Given the description of an element on the screen output the (x, y) to click on. 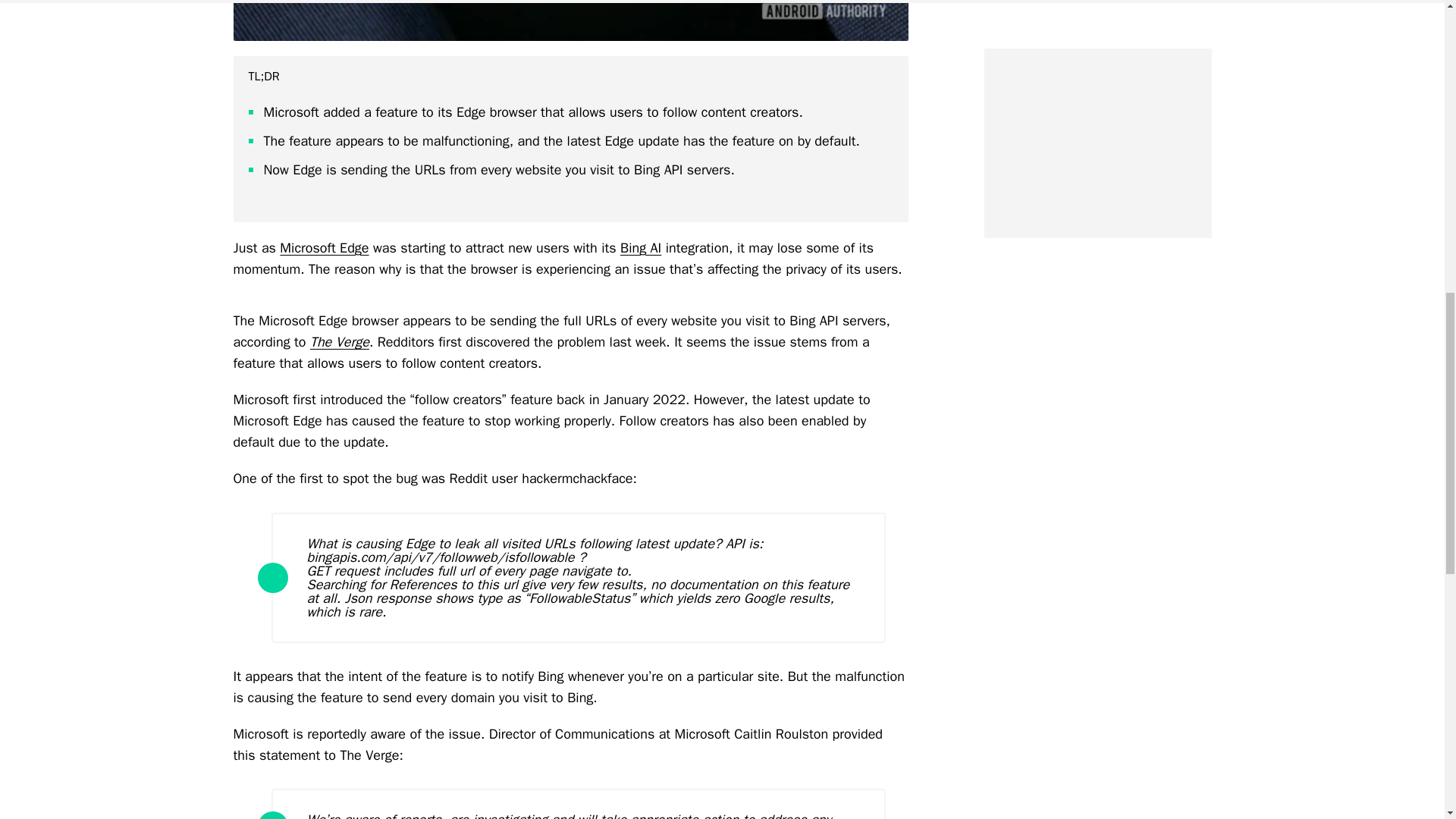
Microsoft Edge Stock photos 4 (570, 20)
Bing AI (640, 247)
The Verge (339, 341)
Microsoft Edge (323, 247)
